Given the description of an element on the screen output the (x, y) to click on. 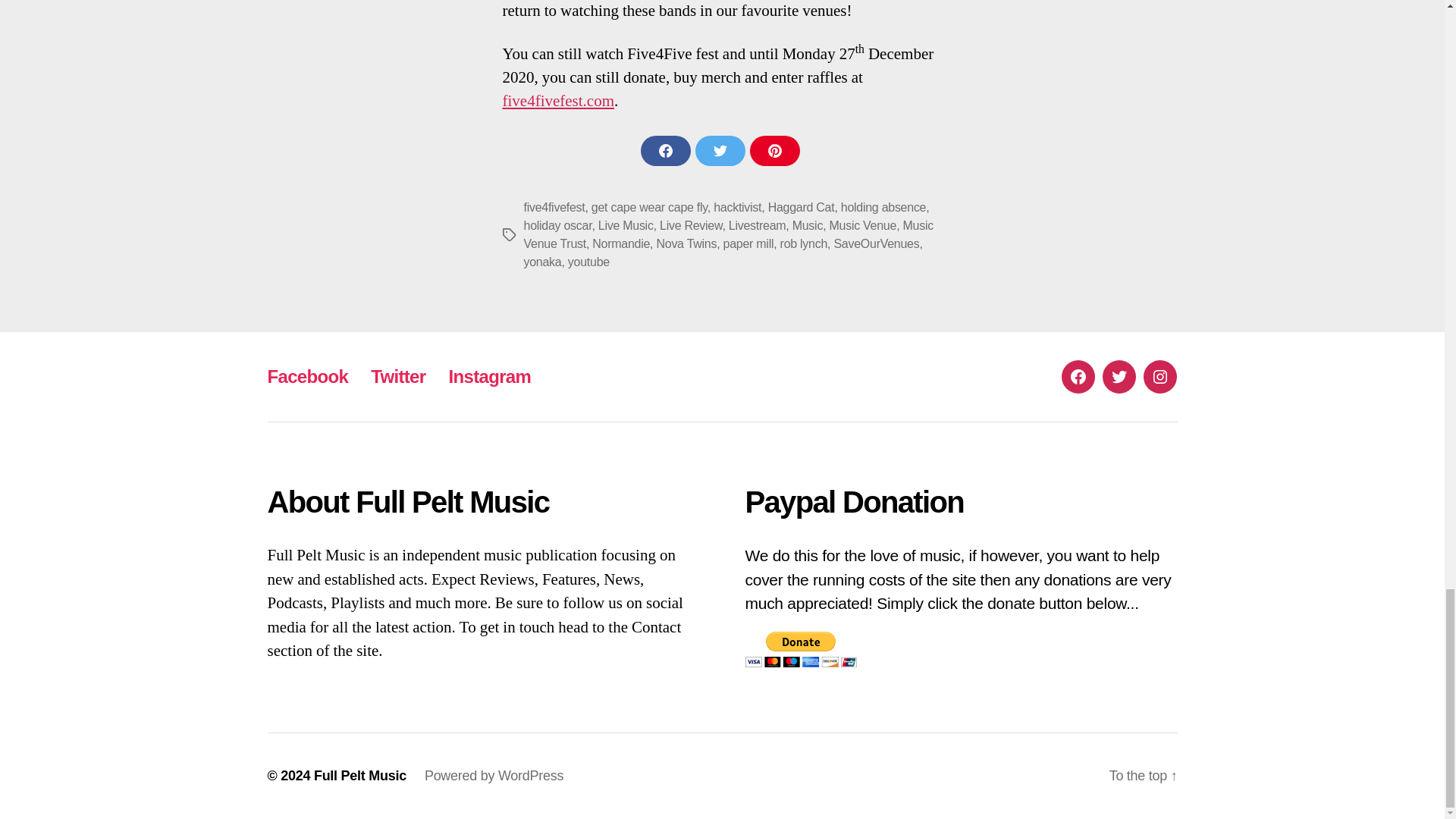
Share on Pinterest (774, 150)
Share on Twitter (719, 150)
Share on Facebook (665, 150)
